Given the description of an element on the screen output the (x, y) to click on. 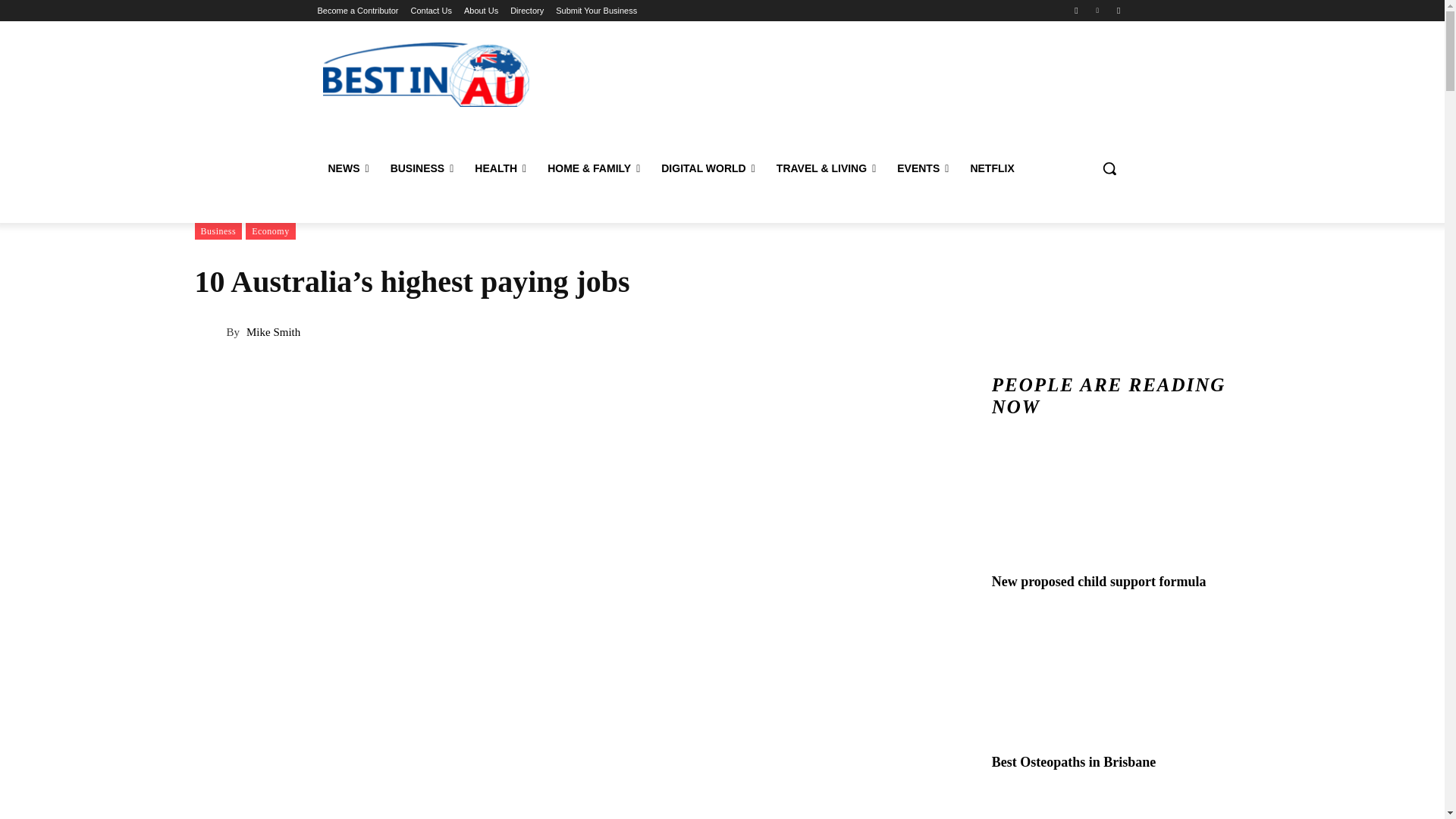
Twitter (1117, 9)
Best in Australia - The Most Researched Information (426, 74)
Facebook (1075, 9)
Mike Smith (209, 332)
Linkedin (1097, 9)
Best in Australia - The Most Researched Information (425, 74)
